Given the description of an element on the screen output the (x, y) to click on. 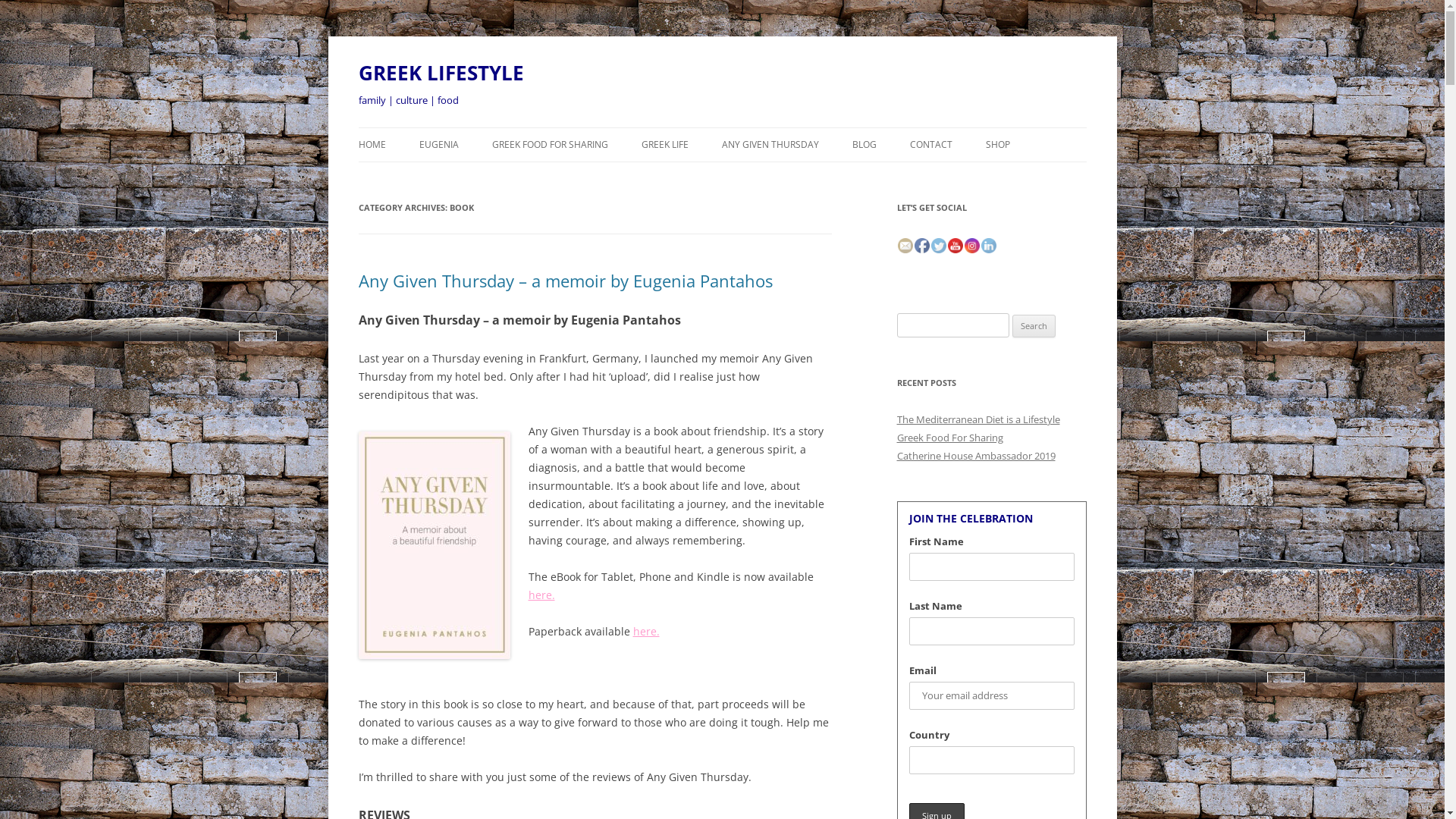
ANY GIVEN THURSDAY Element type: text (770, 144)
The Mediterranean Diet is a Lifestyle Element type: text (977, 419)
Facebook Element type: hover (921, 245)
here. Element type: text (645, 631)
GREEK LIFESTYLE Element type: text (440, 72)
CONTACT Element type: text (931, 144)
LinkedIn Element type: hover (988, 245)
SHOP Element type: text (997, 144)
Catherine House Ambassador 2019 Element type: text (975, 455)
HOME Element type: text (371, 144)
GREEK LIFE Element type: text (664, 144)
GREEK FOOD FOR SHARING Element type: text (549, 144)
EUGENIA Element type: text (438, 144)
BLOG Element type: text (864, 144)
Skip to content Element type: text (721, 127)
https://www.youtube.com/channel/UClwYZBjpvPugvJgOJ4JFJLg Element type: hover (955, 245)
jeanie.pantahos@bigpond.com Element type: hover (905, 245)
Search Element type: text (1033, 325)
PRESS Element type: text (717, 176)
Instagram Element type: hover (971, 245)
Greek Food For Sharing Element type: text (949, 437)
here. Element type: text (540, 594)
